Given the description of an element on the screen output the (x, y) to click on. 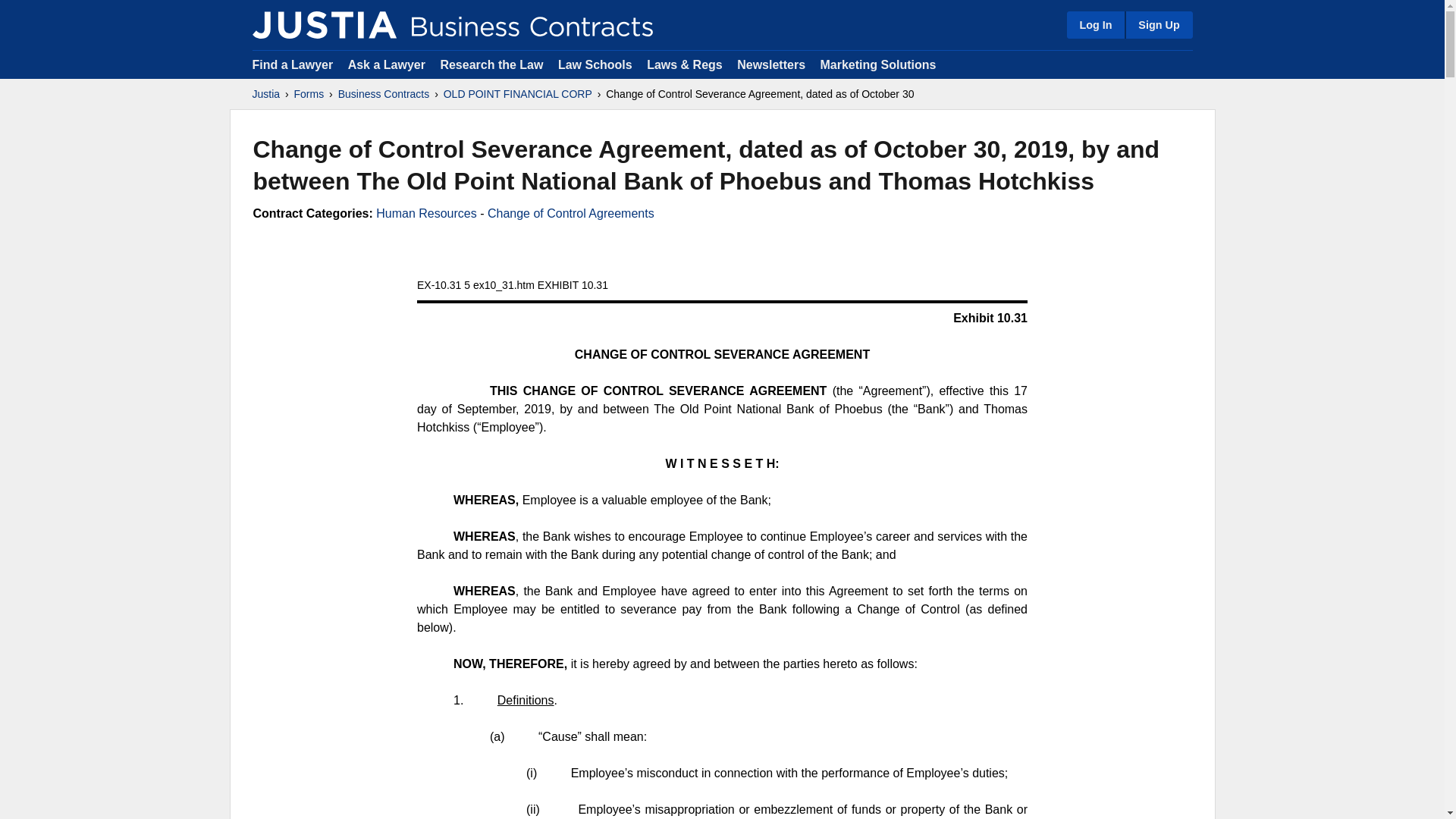
Human Resources (426, 213)
OLD POINT FINANCIAL CORP (518, 93)
Law Schools (594, 64)
Research the Law (491, 64)
Log In (1094, 24)
Sign Up (1158, 24)
Forms (309, 93)
Find a Lawyer (292, 64)
Justia (323, 24)
Business Contracts (383, 93)
Ask a Lawyer (388, 64)
Newsletters (770, 64)
Marketing Solutions (877, 64)
Change of Control Agreements (570, 213)
Justia (265, 93)
